Given the description of an element on the screen output the (x, y) to click on. 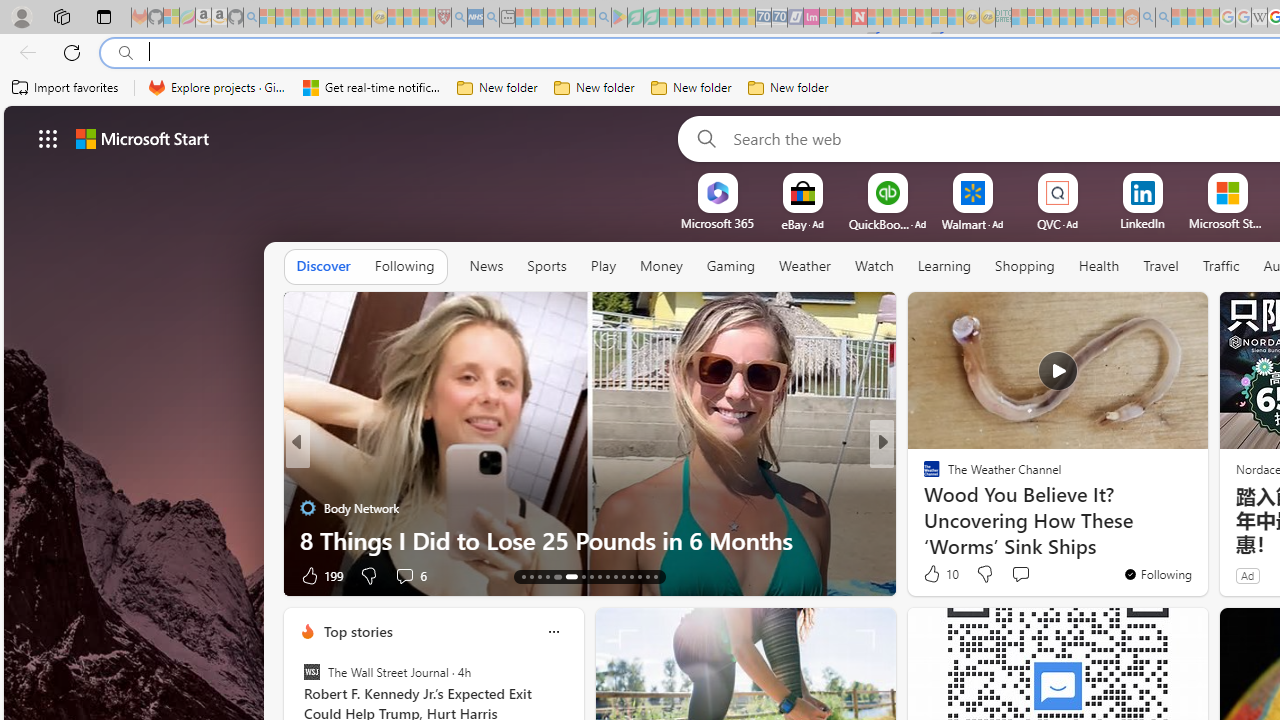
View comments 2 Comment (1014, 575)
AutomationID: tab-16 (546, 576)
Shopping (1025, 265)
Expert Portfolios - Sleeping (1067, 17)
Local - MSN - Sleeping (427, 17)
Gaming (730, 267)
Microsoft start (142, 138)
Class: icon-img (553, 632)
Far & Wide (923, 507)
utah sues federal government - Search - Sleeping (491, 17)
